Given the description of an element on the screen output the (x, y) to click on. 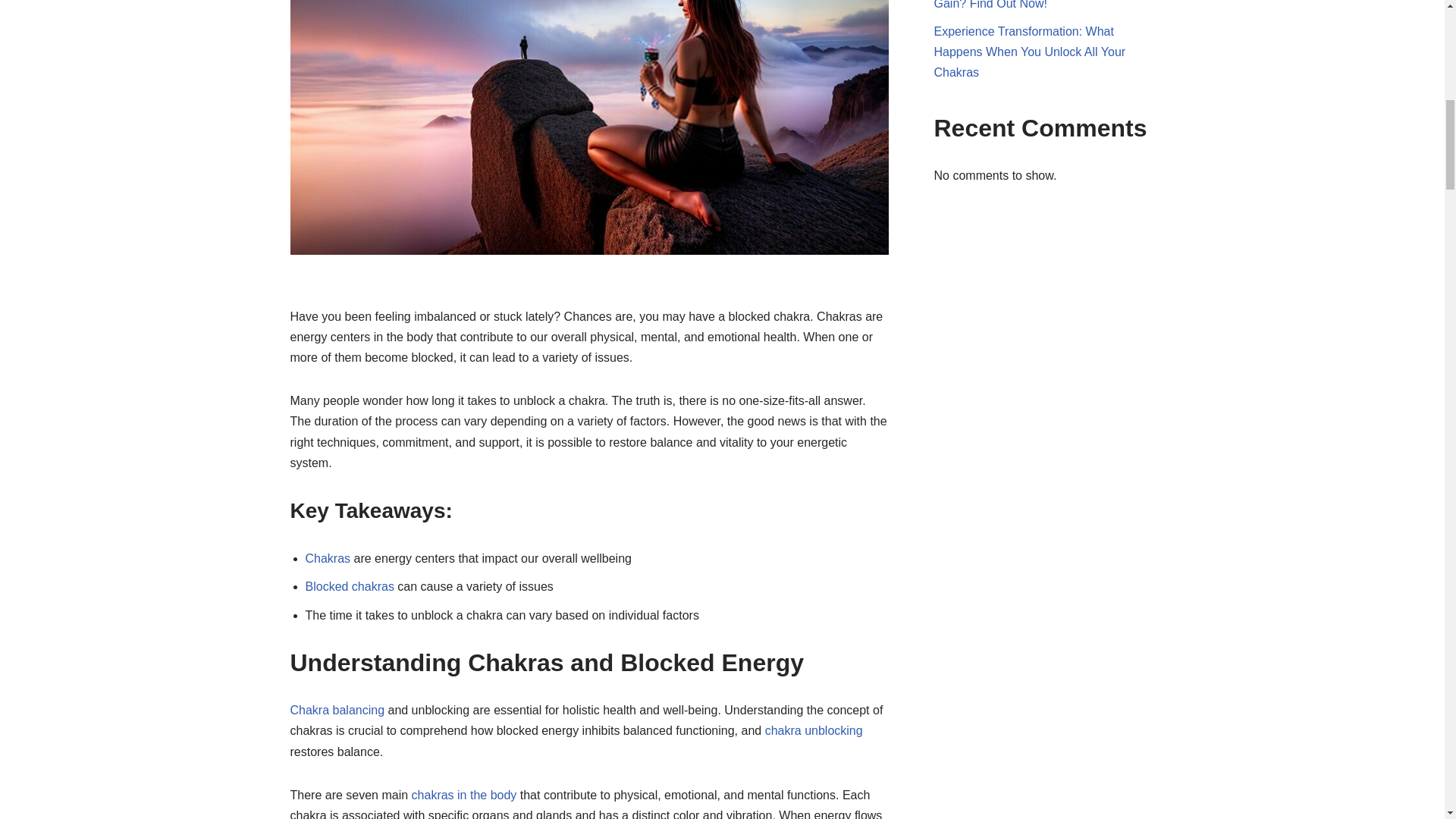
chakra unblocking (814, 730)
Chakras (327, 558)
chakra unblocking (814, 730)
chakras in the body (464, 794)
Chakras (327, 558)
Blocked chakras (348, 585)
Chakra balancing (336, 709)
Chakra balancing (336, 709)
chakras in the body (464, 794)
Blocked chakras (348, 585)
